Given the description of an element on the screen output the (x, y) to click on. 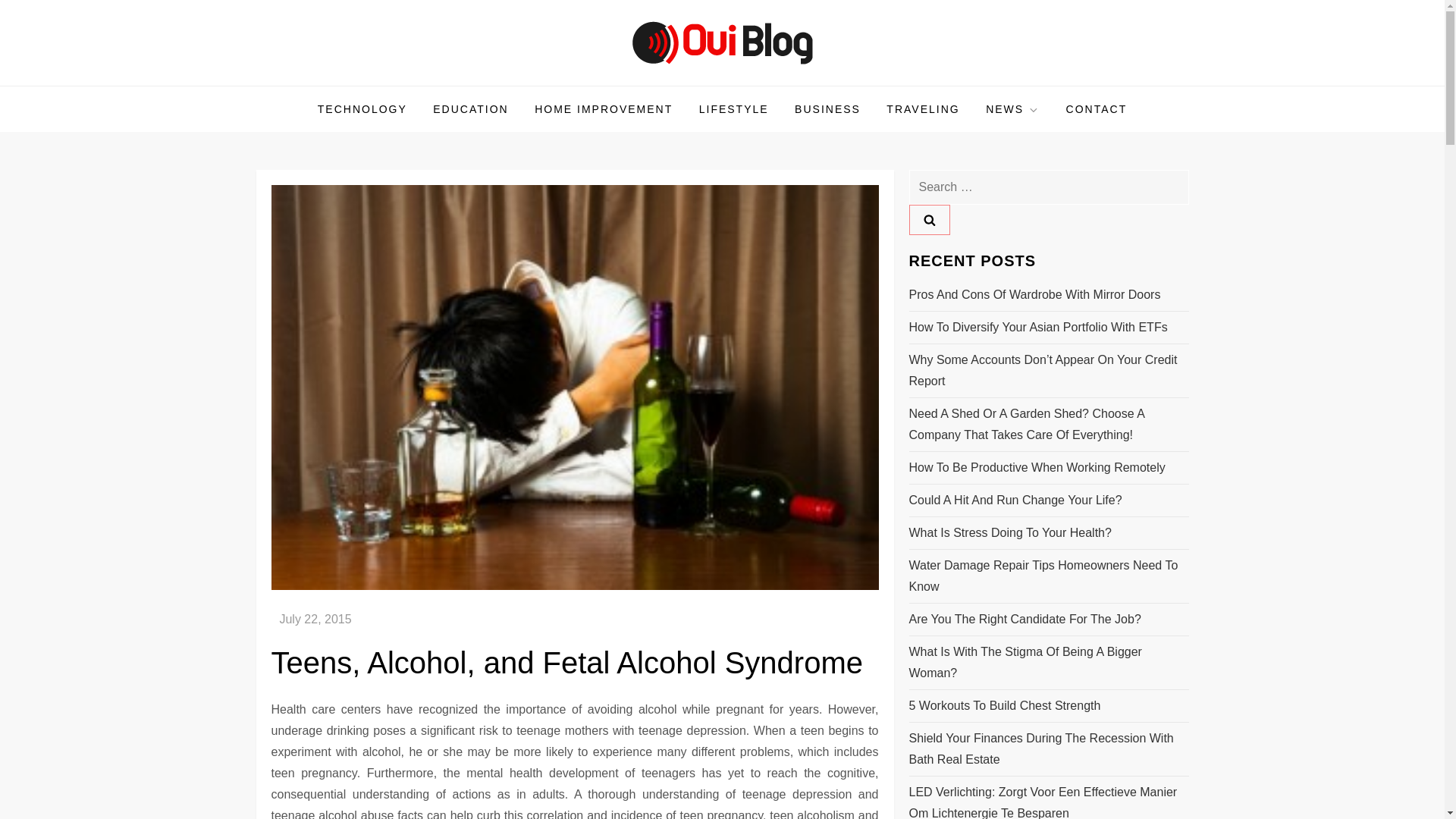
CONTACT (1096, 108)
TECHNOLOGY (362, 108)
Search (928, 219)
Pros And Cons Of Wardrobe With Mirror Doors (1034, 294)
How To Diversify Your Asian Portfolio With ETFs (1037, 327)
July 22, 2015 (314, 618)
LIFESTYLE (733, 108)
What Is Stress Doing To Your Health? (1009, 532)
How To Be Productive When Working Remotely (1036, 467)
Oui Blog (314, 84)
Water Damage Repair Tips Homeowners Need To Know (1048, 576)
BUSINESS (827, 108)
TRAVELING (923, 108)
